Given the description of an element on the screen output the (x, y) to click on. 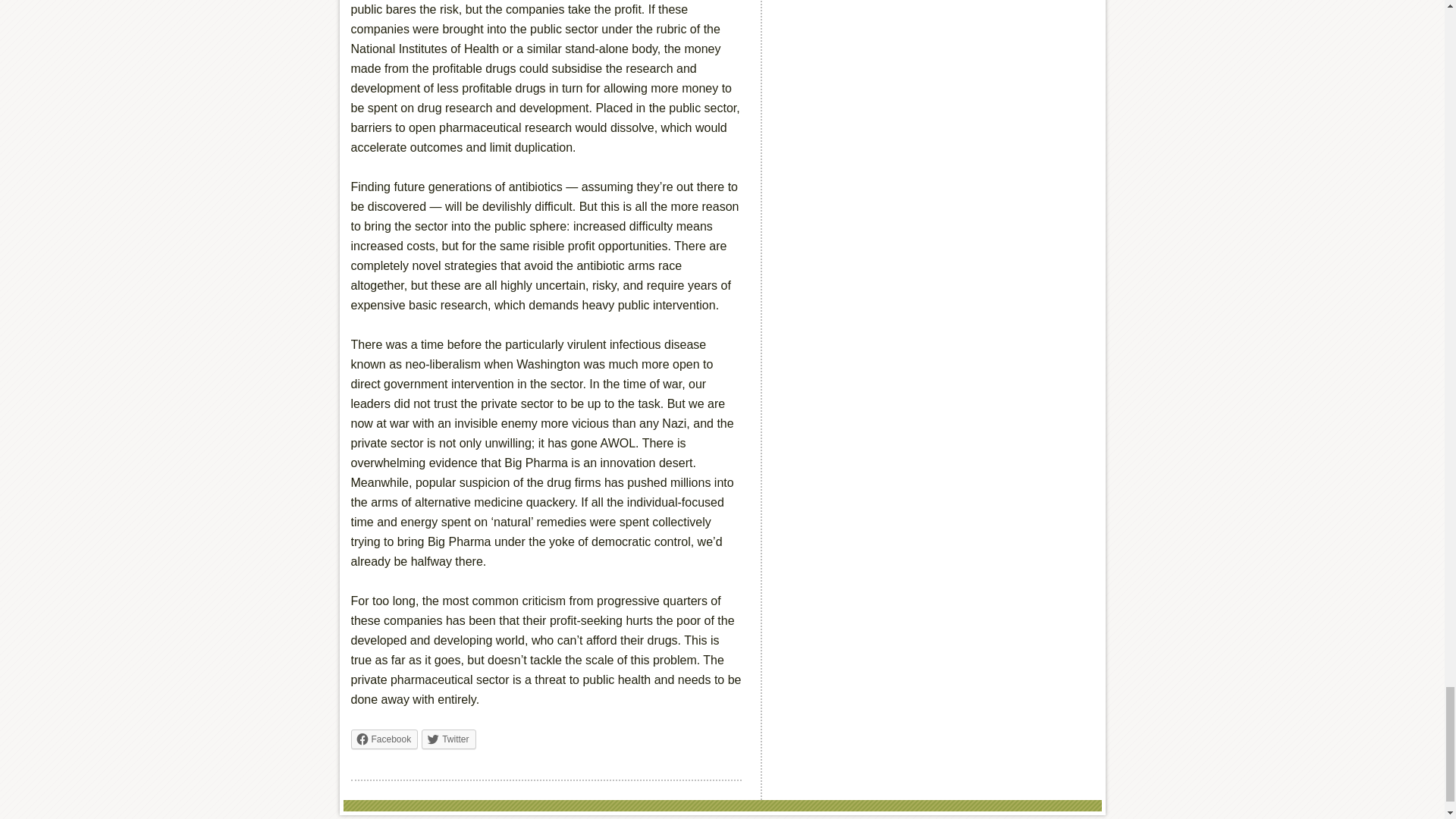
Click to share on Twitter (449, 739)
Click to share on Facebook (383, 739)
